Given the description of an element on the screen output the (x, y) to click on. 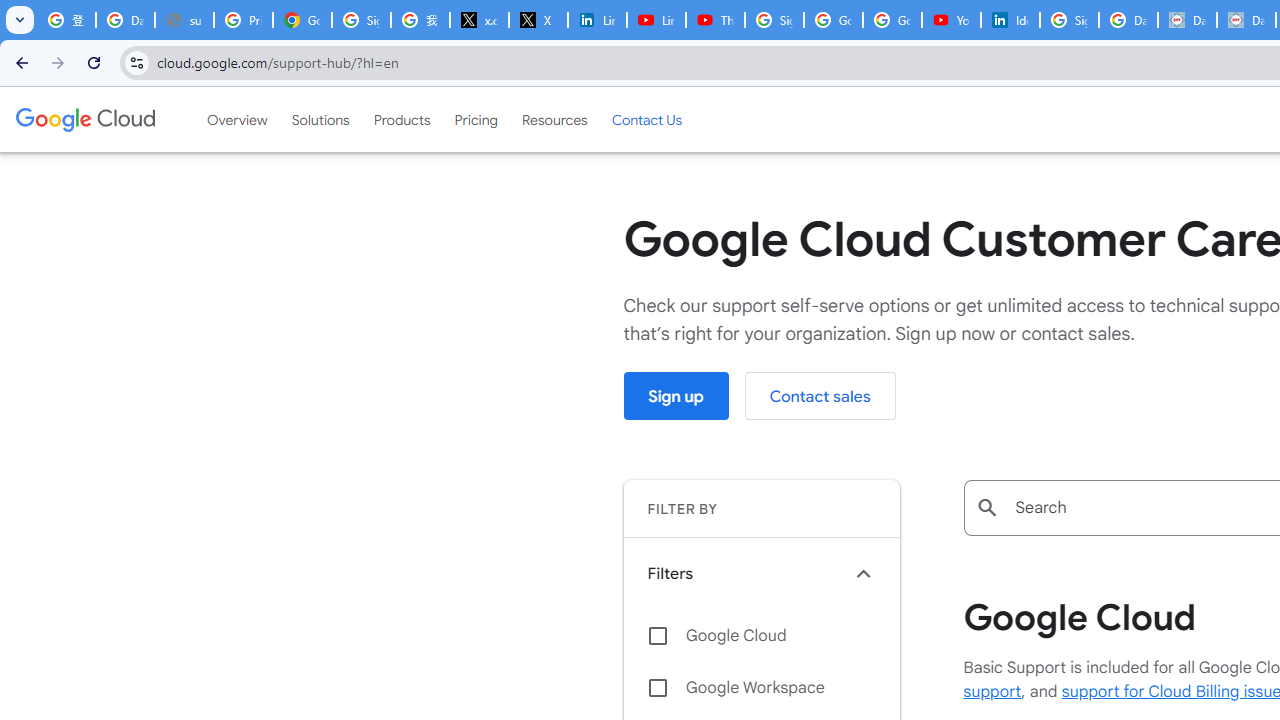
Sign in - Google Accounts (360, 20)
Contact Us (646, 119)
Privacy Help Center - Policies Help (242, 20)
Filters keyboard_arrow_up (761, 573)
Identity verification via Persona | LinkedIn Help (1010, 20)
